Given the description of an element on the screen output the (x, y) to click on. 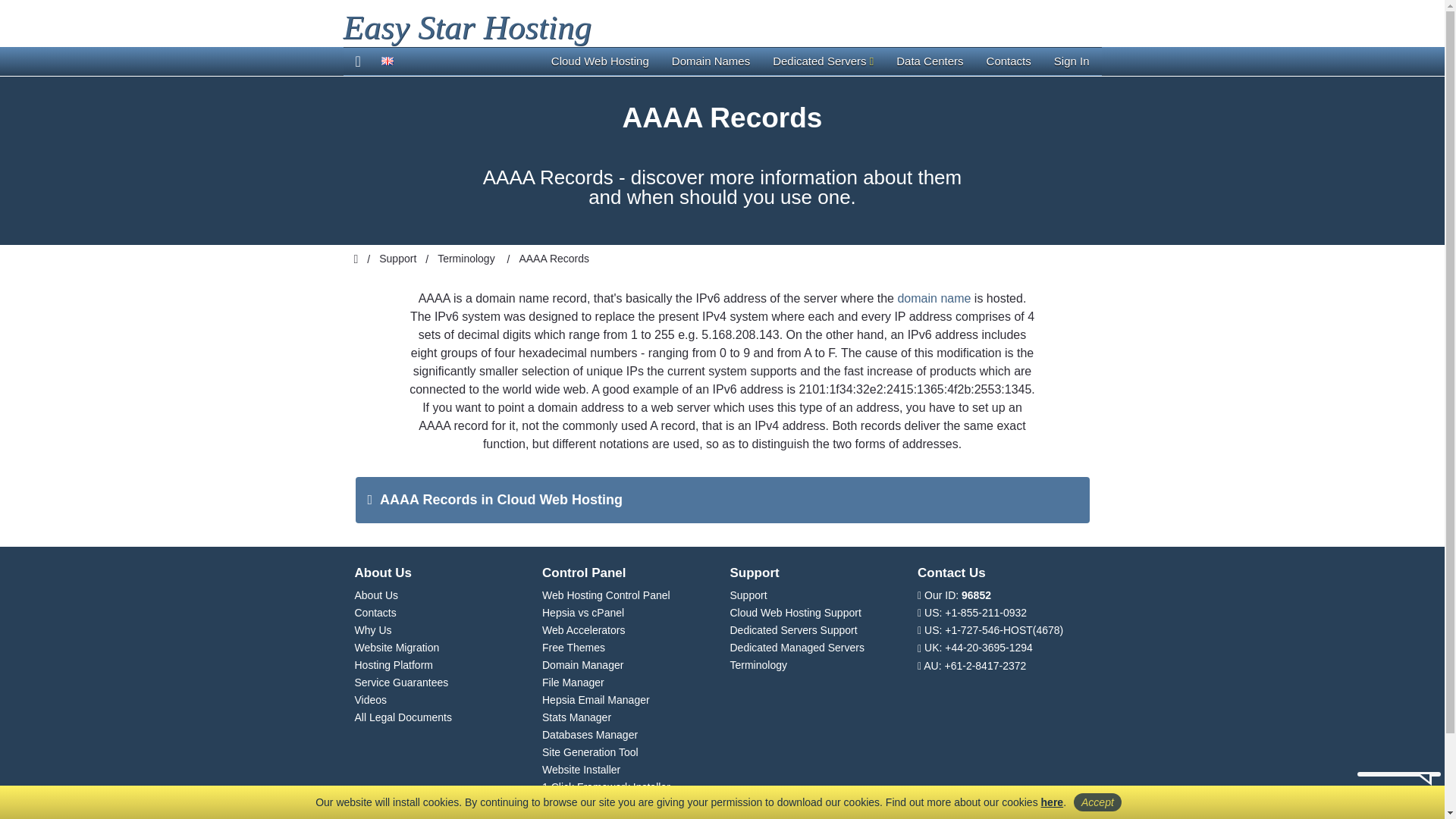
Easy Star Hosting (466, 26)
Domain Names (711, 61)
Cloud Web Hosting (600, 61)
Privacy Policy (1052, 802)
domain name (933, 297)
Dedicated Servers (823, 61)
